Given the description of an element on the screen output the (x, y) to click on. 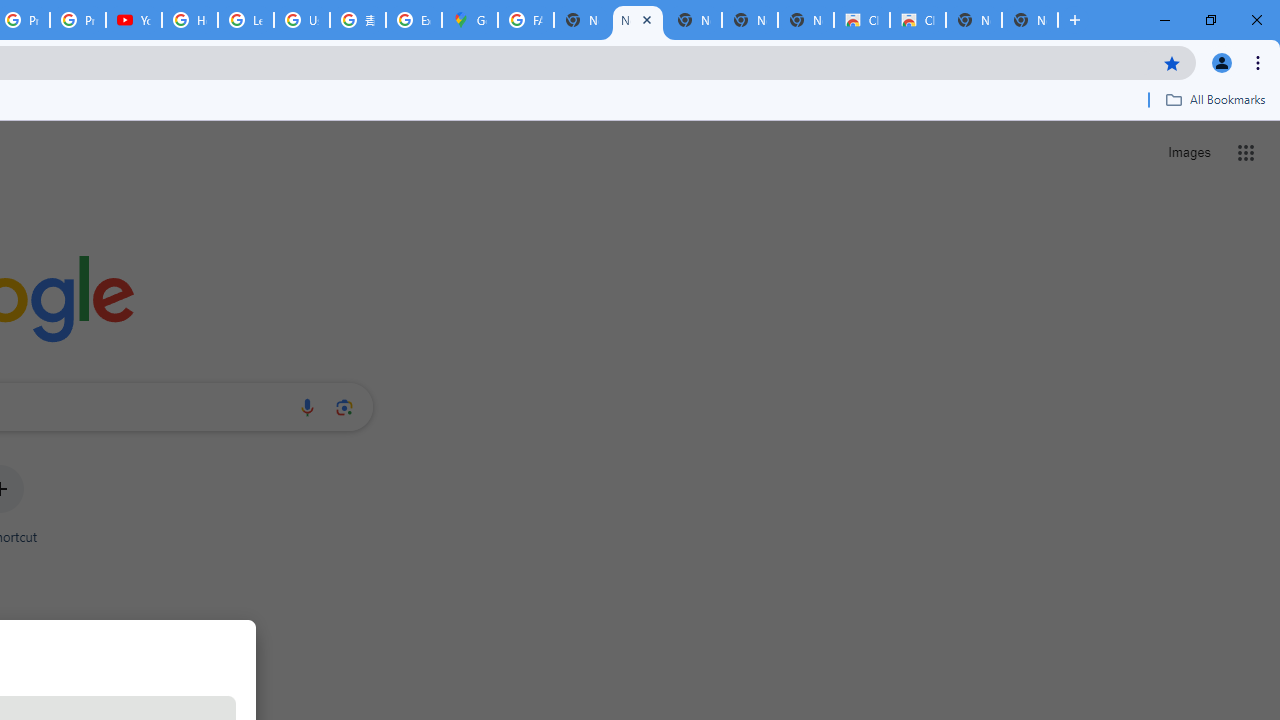
Privacy Checkup (77, 20)
YouTube (134, 20)
